Given the description of an element on the screen output the (x, y) to click on. 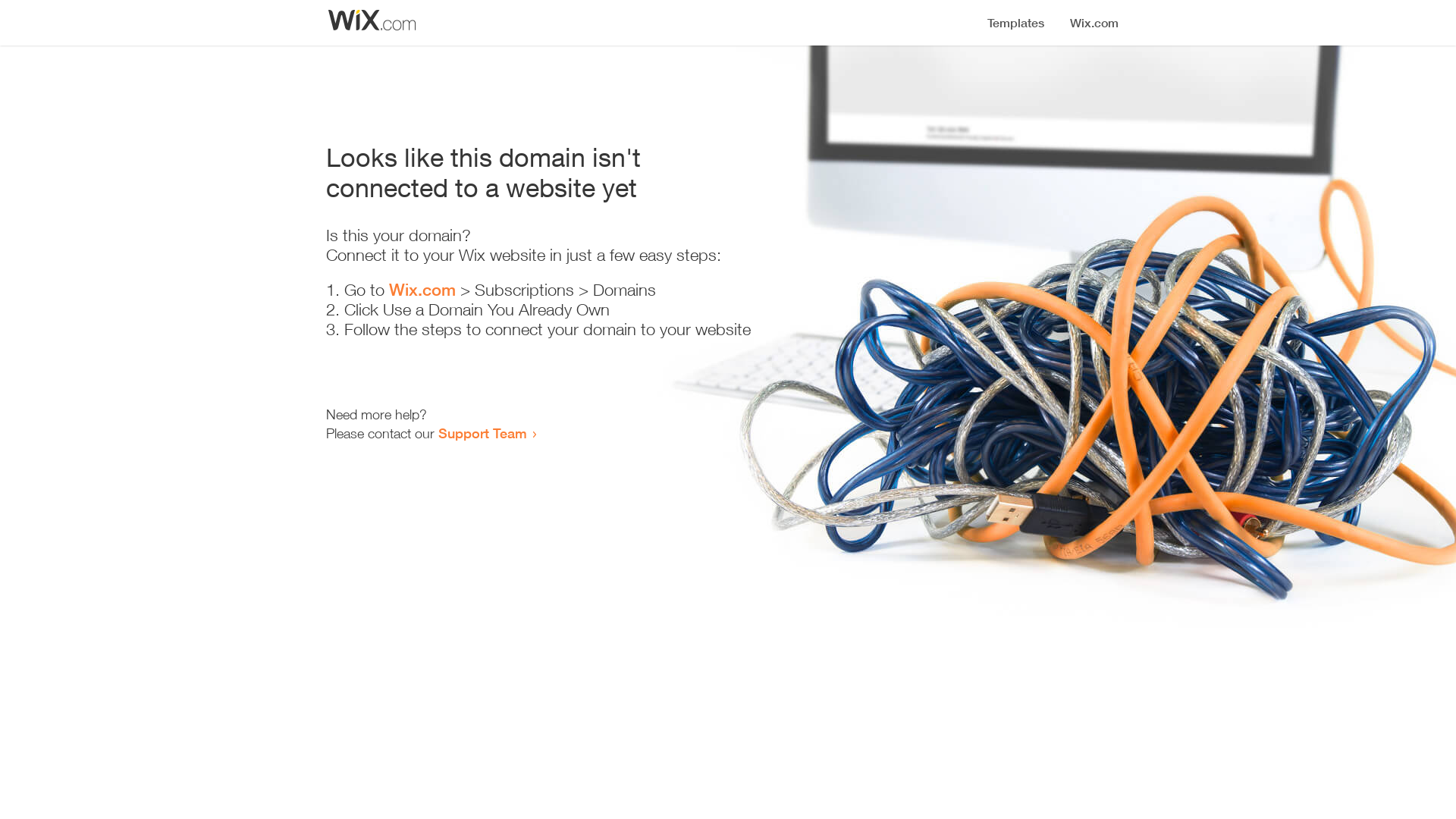
Support Team Element type: text (482, 432)
Wix.com Element type: text (422, 289)
